Given the description of an element on the screen output the (x, y) to click on. 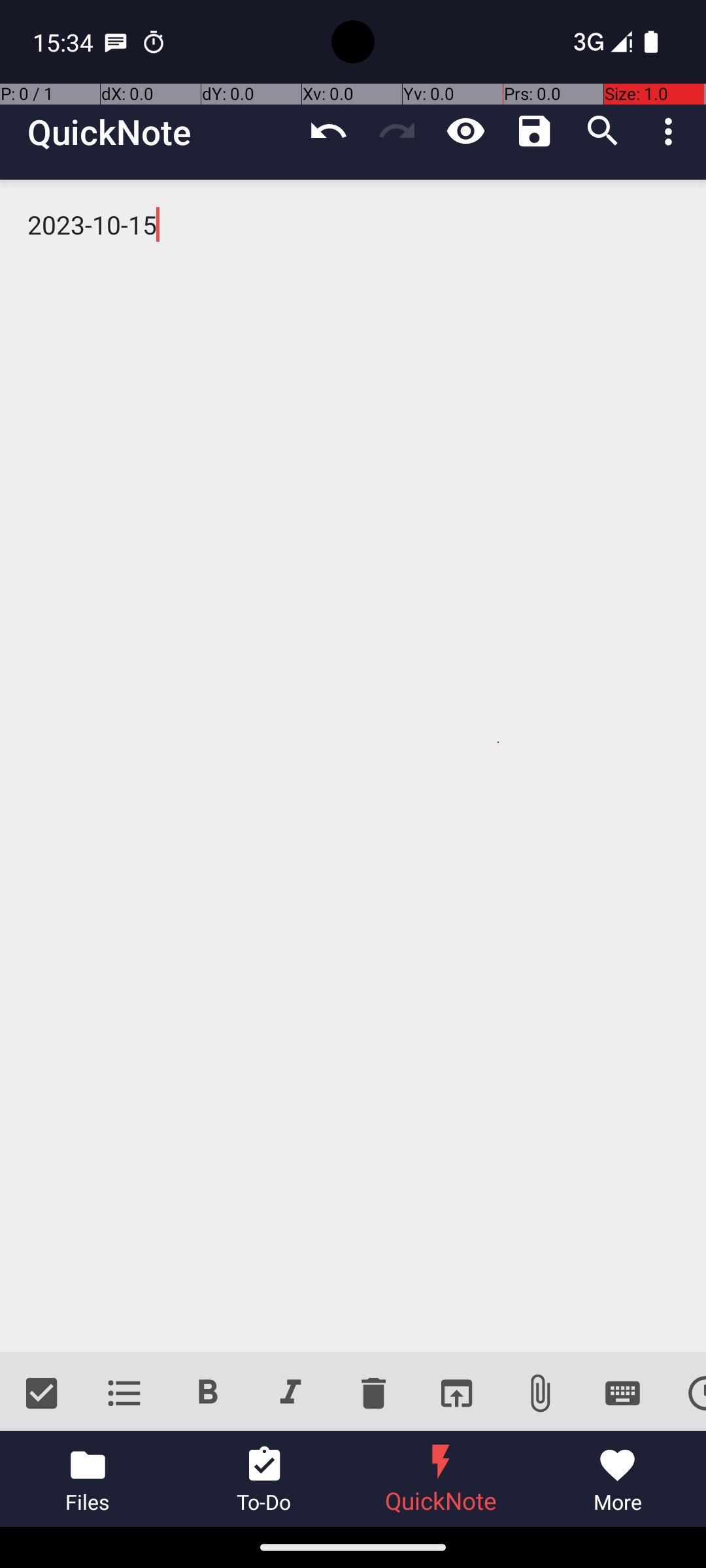
2023-10-15 Element type: android.widget.EditText (353, 765)
